Given the description of an element on the screen output the (x, y) to click on. 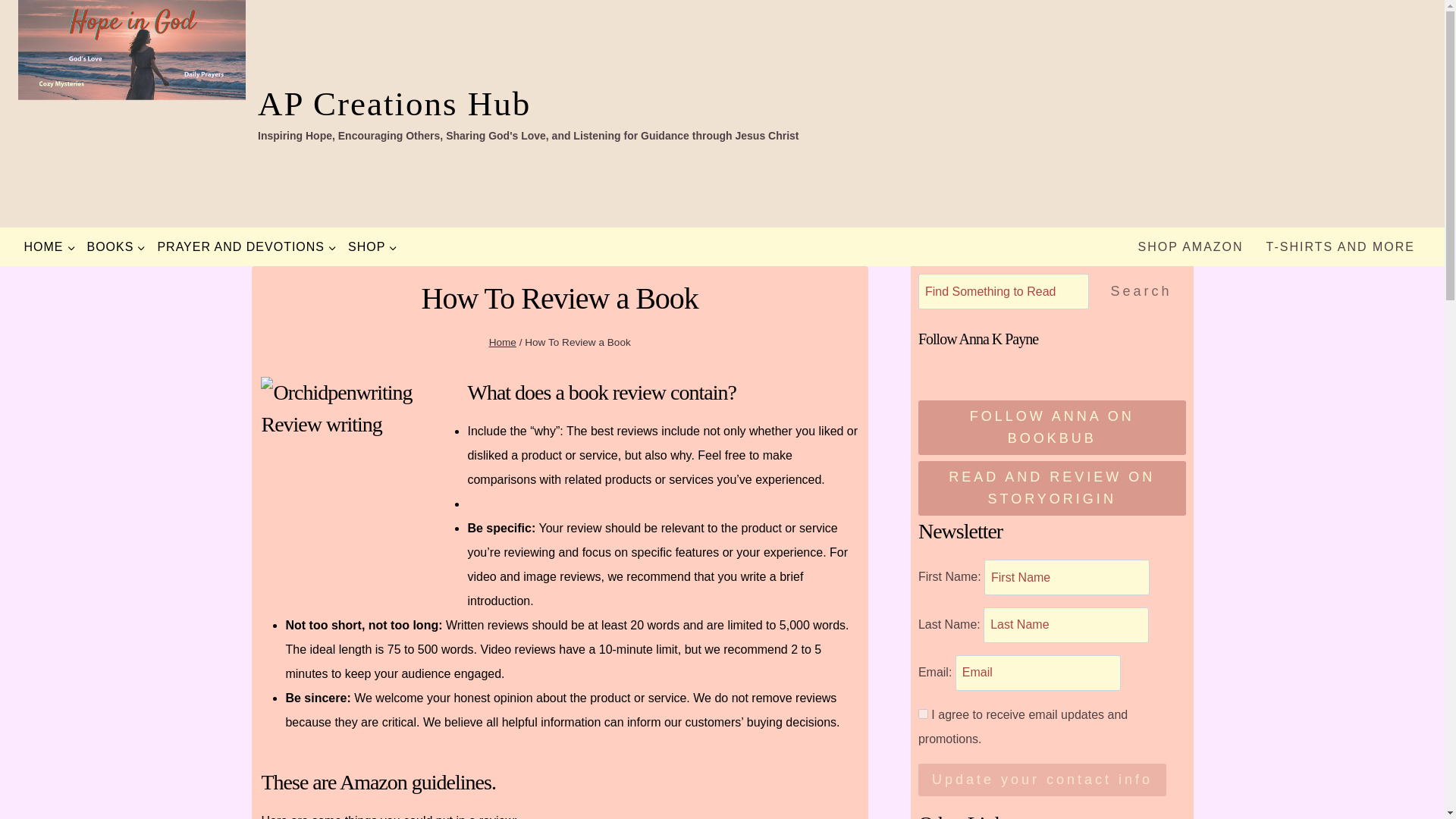
SHOP (372, 247)
PRAYER AND DEVOTIONS (246, 247)
T-SHIRTS AND MORE (1340, 246)
BOOKS (116, 247)
Search (1140, 291)
Facebook (983, 361)
HOME (49, 247)
1 (923, 714)
SHOP AMAZON (1190, 246)
Instagram (1015, 361)
Amazon (1046, 361)
Home (502, 342)
